Given the description of an element on the screen output the (x, y) to click on. 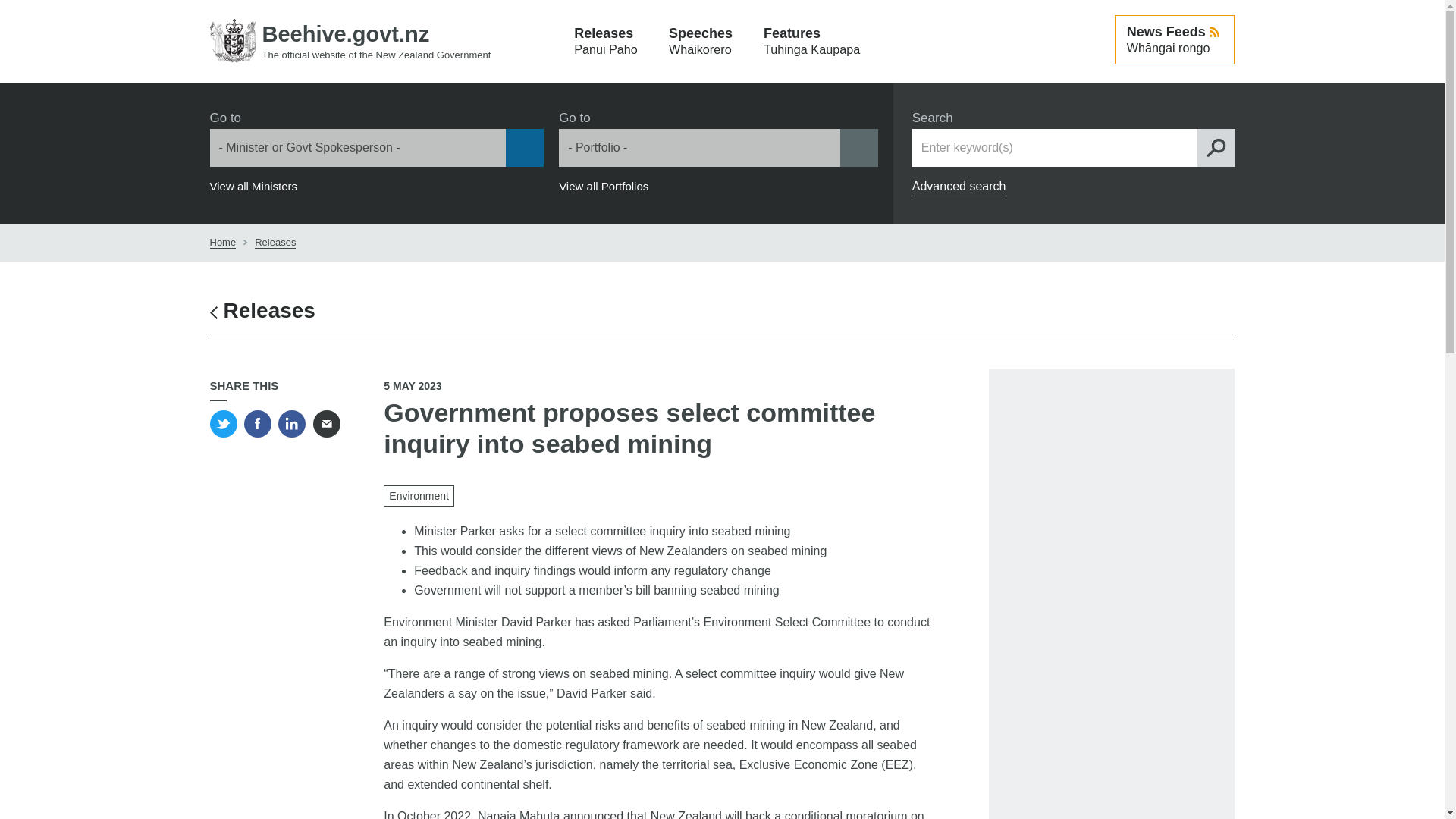
Releases (261, 310)
Linkedin (291, 423)
Home (222, 242)
Twitter (222, 423)
Speeches (811, 41)
Releases (700, 41)
View all Ministers (274, 242)
Search (253, 186)
